Given the description of an element on the screen output the (x, y) to click on. 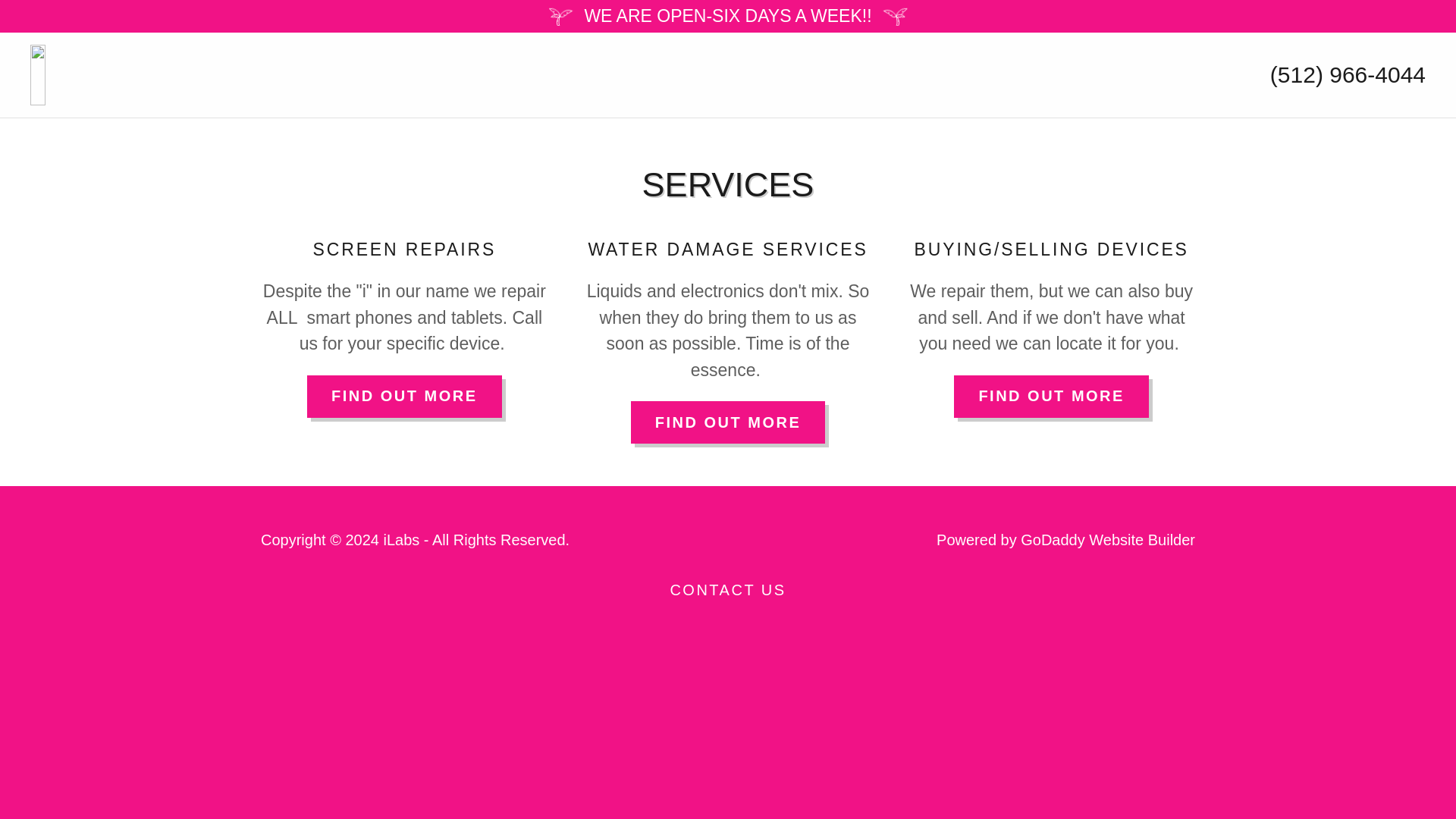
FIND OUT MORE (727, 422)
FIND OUT MORE (1050, 396)
CONTACT US (727, 590)
GoDaddy (1052, 539)
FIND OUT MORE (404, 396)
